Given the description of an element on the screen output the (x, y) to click on. 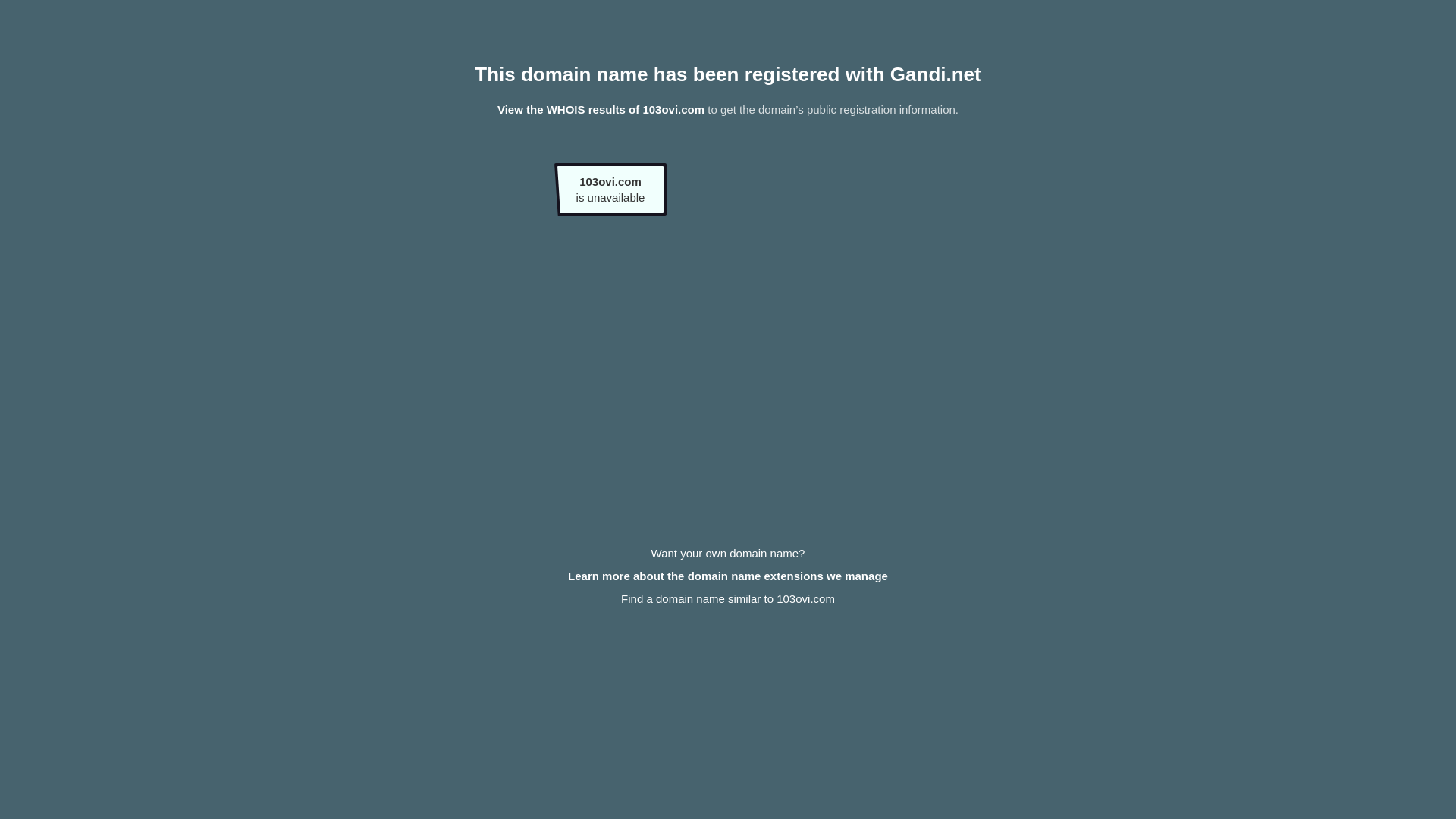
View the WHOIS results of 103ovi.com Element type: text (600, 109)
Learn more about the domain name extensions we manage Element type: text (727, 575)
Find a domain name similar to 103ovi.com Element type: text (727, 598)
